Given the description of an element on the screen output the (x, y) to click on. 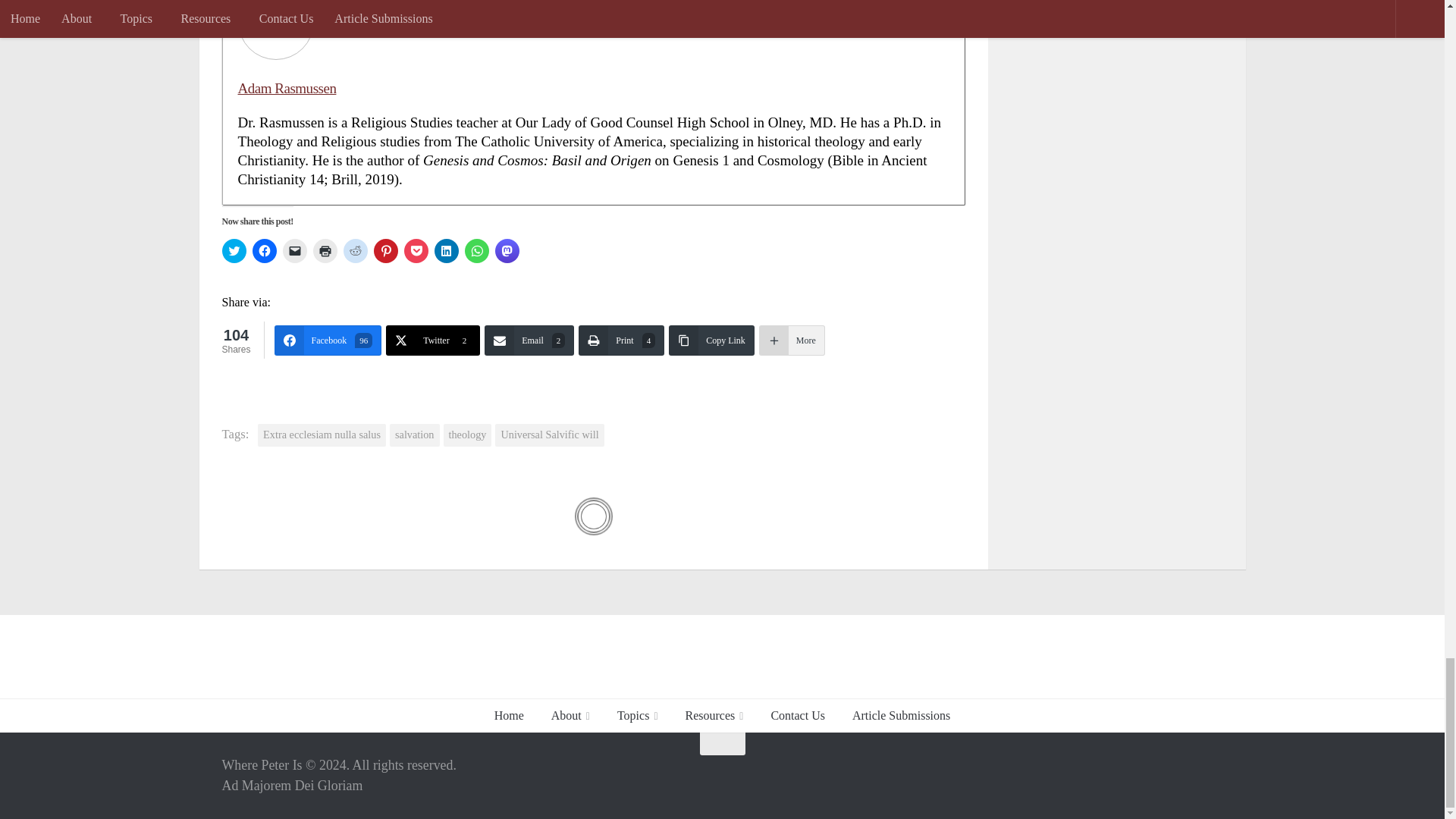
Click to share on Reddit (354, 250)
Click to print (324, 250)
Click to email a link to a friend (293, 250)
Click to share on Facebook (263, 250)
Click to share on WhatsApp (475, 250)
Click to share on Pinterest (384, 250)
Click to share on LinkedIn (445, 250)
Click to share on Pocket (415, 250)
Click to share on Twitter (233, 250)
Click to share on Mastodon (506, 250)
